Given the description of an element on the screen output the (x, y) to click on. 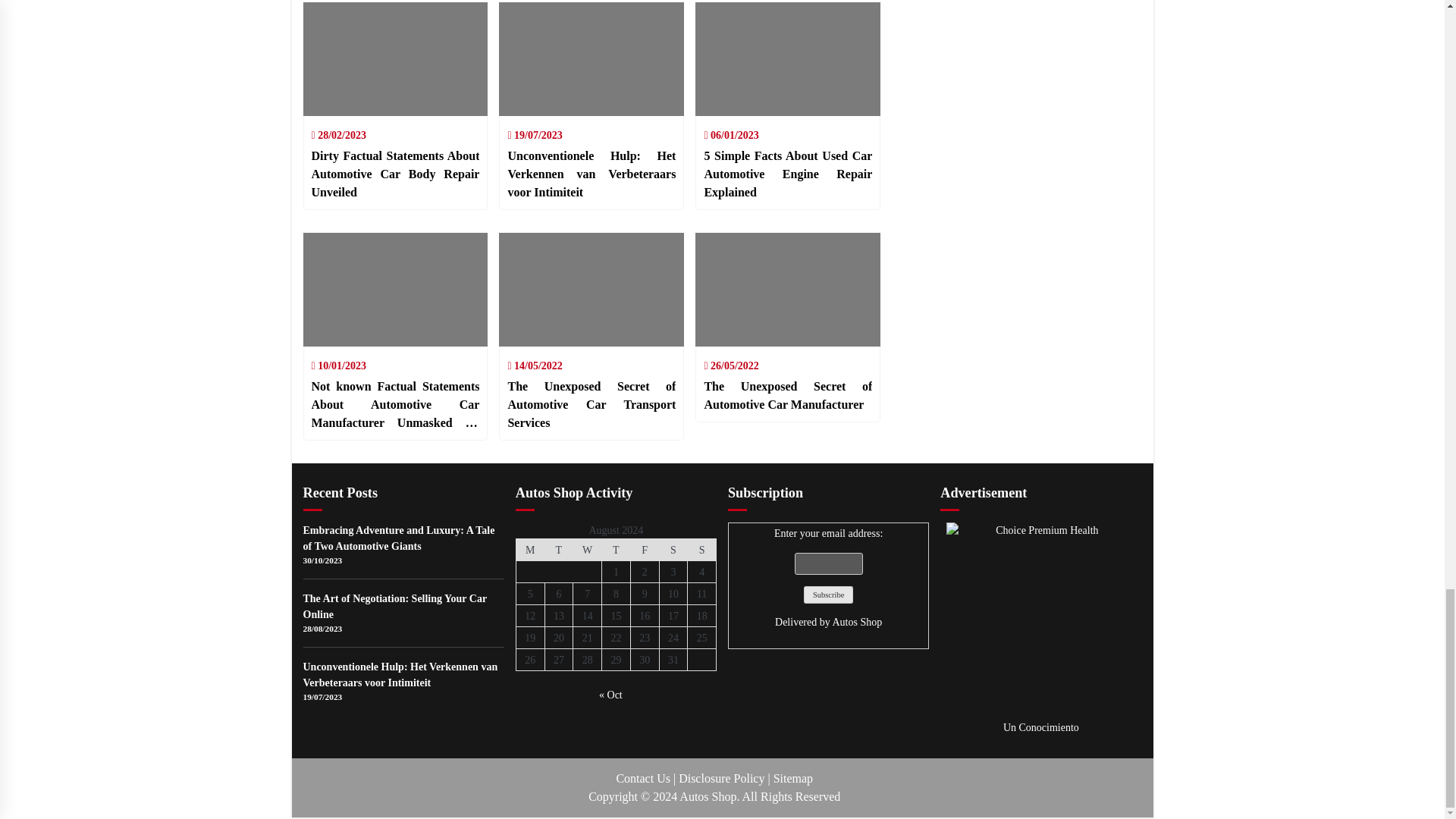
Wednesday (587, 549)
Saturday (673, 549)
Subscribe (827, 594)
Thursday (616, 549)
Friday (644, 549)
Monday (529, 549)
Tuesday (558, 549)
